Given the description of an element on the screen output the (x, y) to click on. 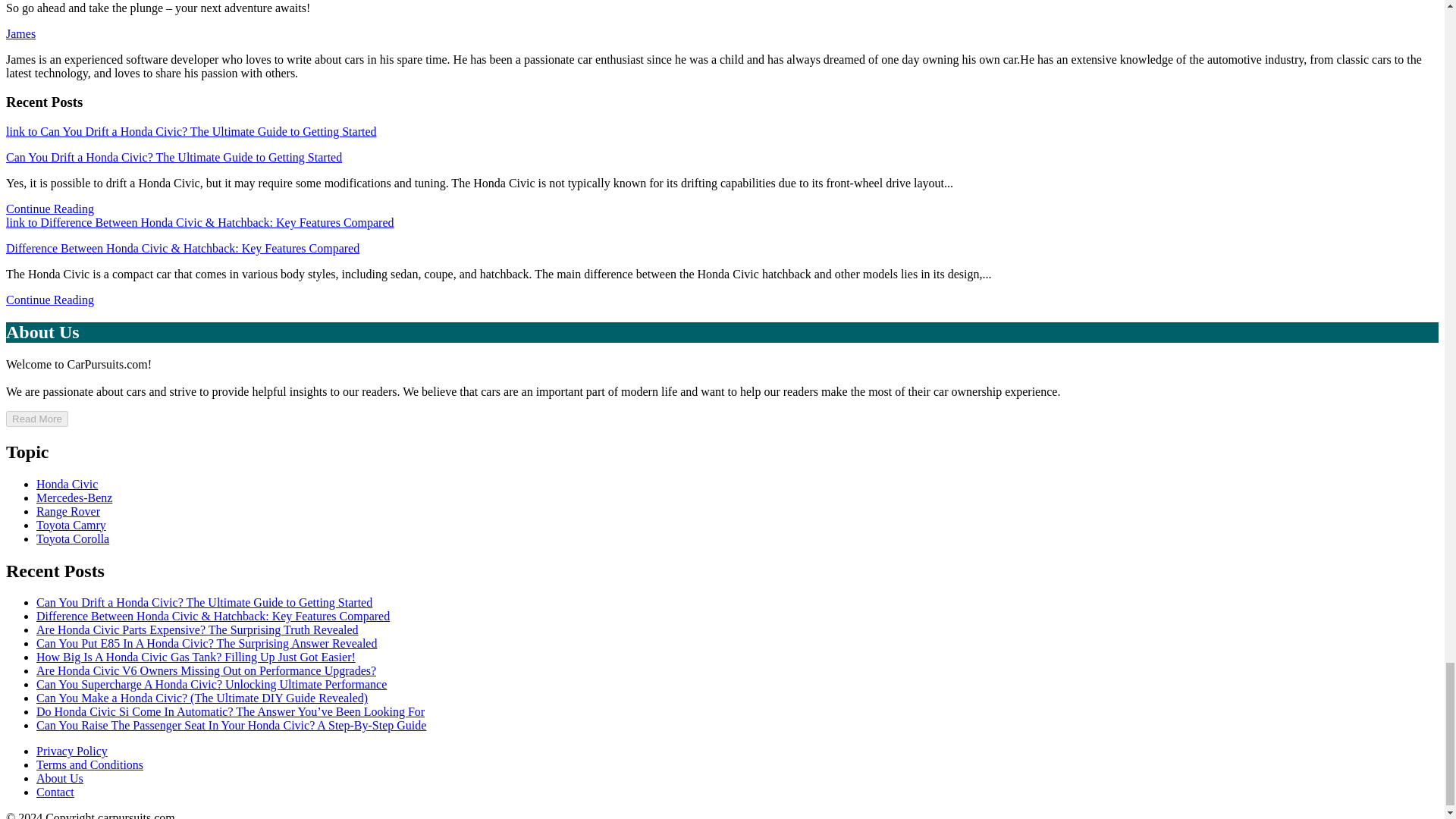
Honda Civic (66, 483)
Mercedes-Benz (74, 497)
Range Rover (68, 511)
James (19, 33)
Continue Reading (49, 299)
Toyota Camry (71, 524)
Read More (36, 418)
Continue Reading (49, 208)
